Given the description of an element on the screen output the (x, y) to click on. 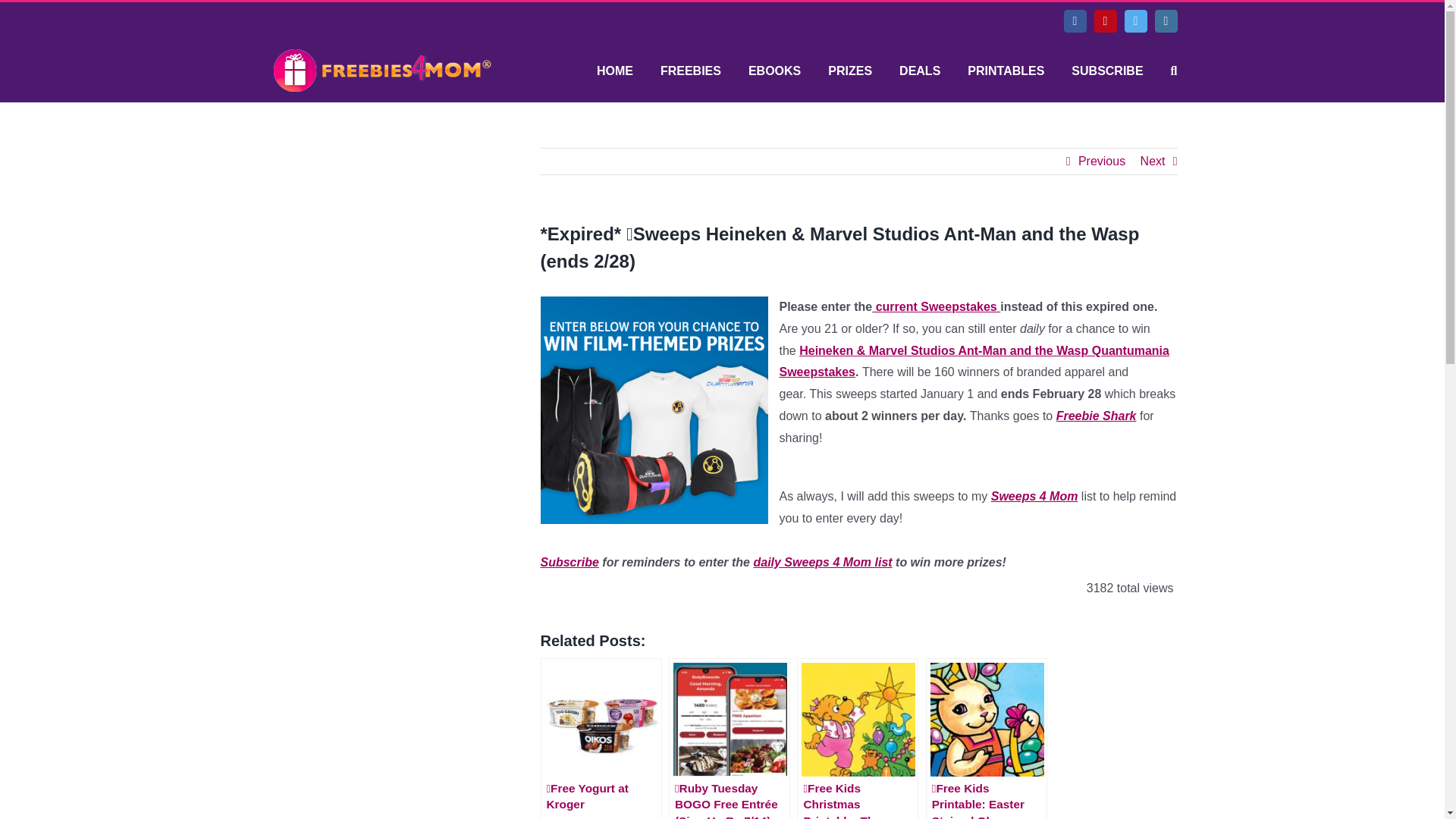
Facebook (1074, 20)
Instagram (1165, 20)
Facebook (1074, 20)
Pinterest (1104, 20)
FREEBIES (690, 70)
Pinterest (1104, 20)
Twitter (1135, 20)
Twitter (1135, 20)
PRINTABLES (1005, 70)
Instagram (1165, 20)
